Given the description of an element on the screen output the (x, y) to click on. 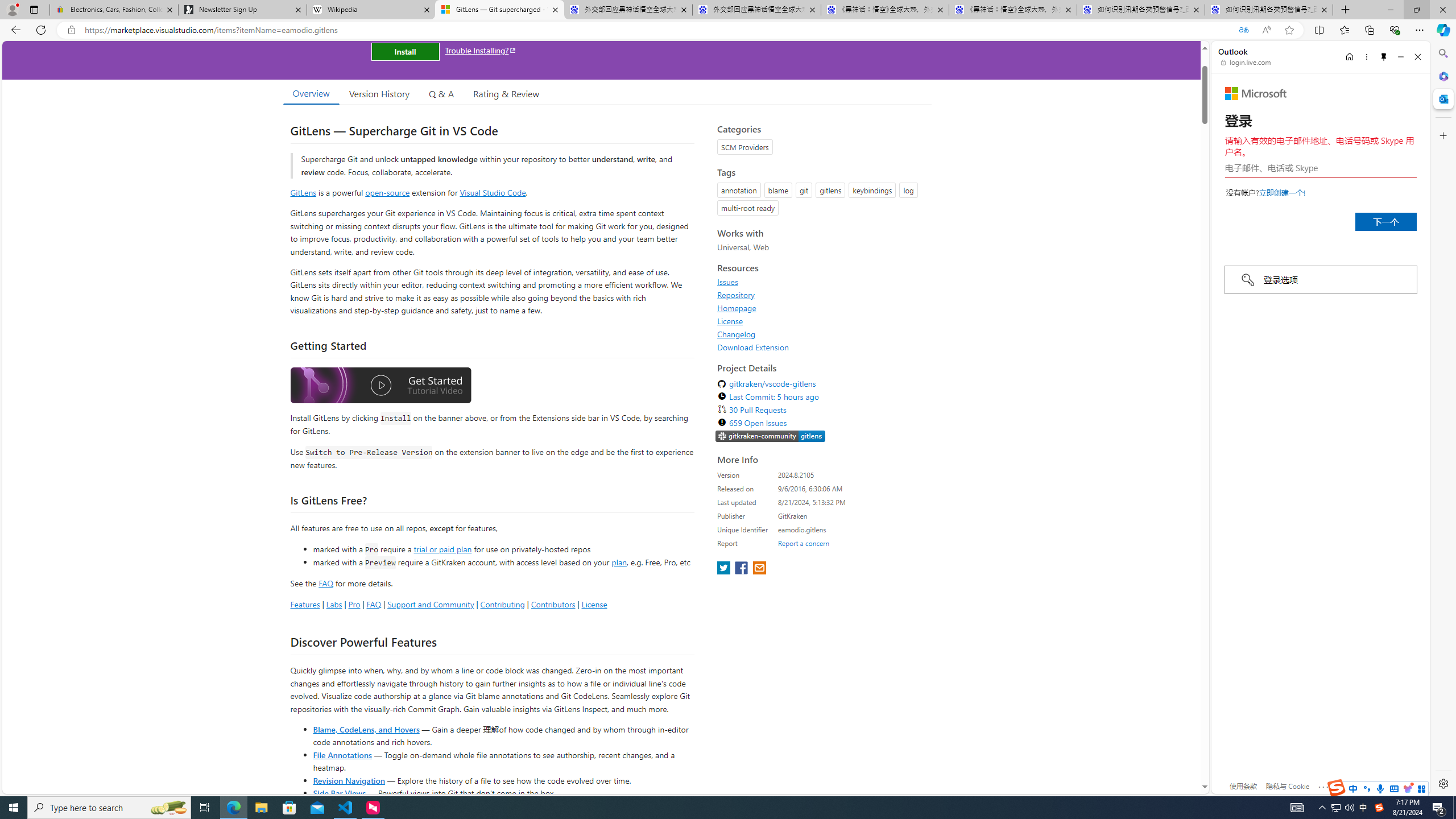
Repository (820, 294)
Labs (334, 603)
Blame, CodeLens, and Hovers (366, 728)
https://slack.gitkraken.com// (769, 436)
Install (405, 51)
Changelog (736, 333)
